Given the description of an element on the screen output the (x, y) to click on. 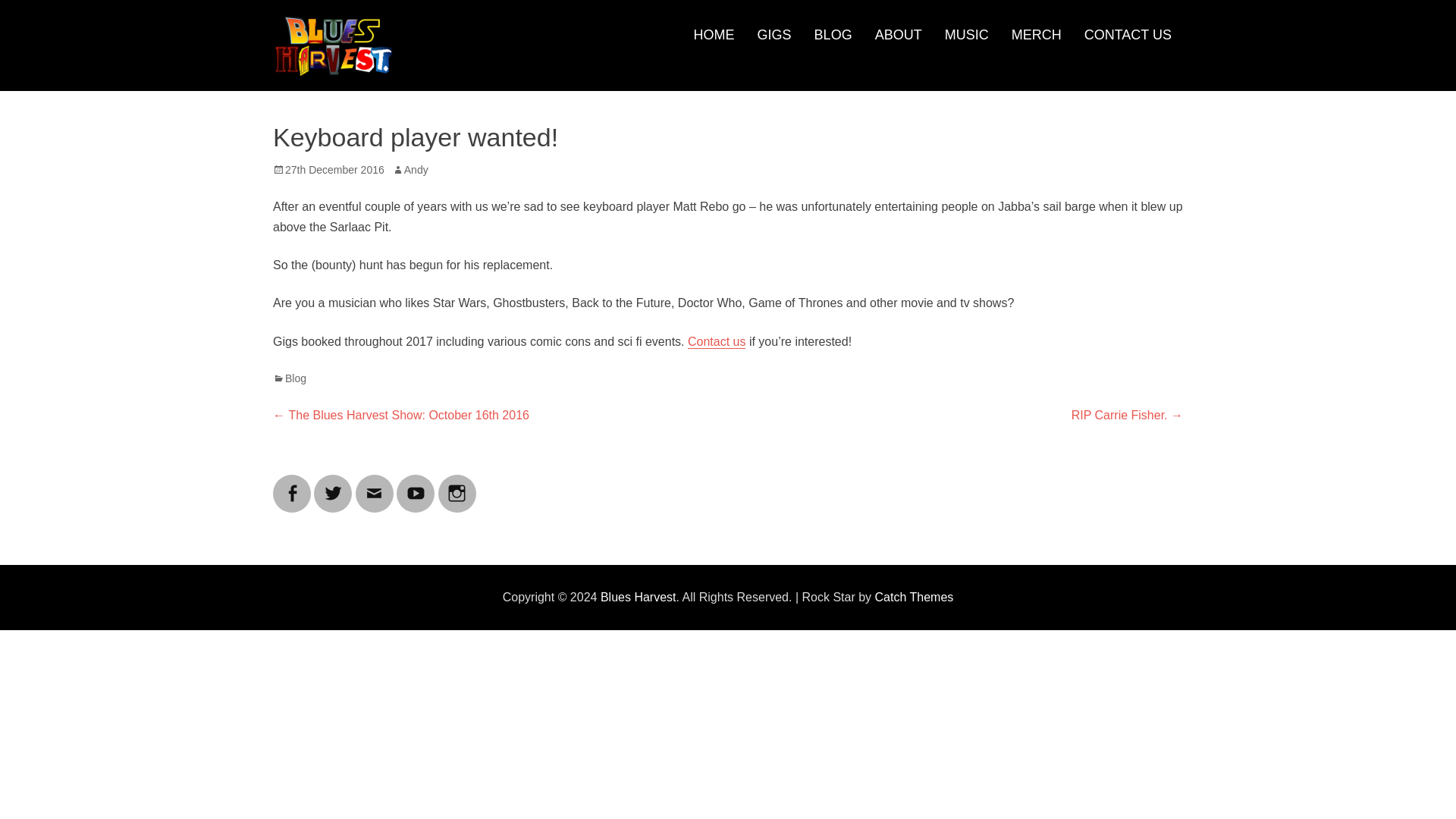
Blog (289, 378)
ABOUT (898, 35)
27th December 2016 (328, 169)
Andy (409, 169)
MUSIC (966, 35)
Twitter (333, 483)
GIGS (774, 35)
YouTube (414, 483)
Instagram (457, 483)
Email (374, 483)
